Given the description of an element on the screen output the (x, y) to click on. 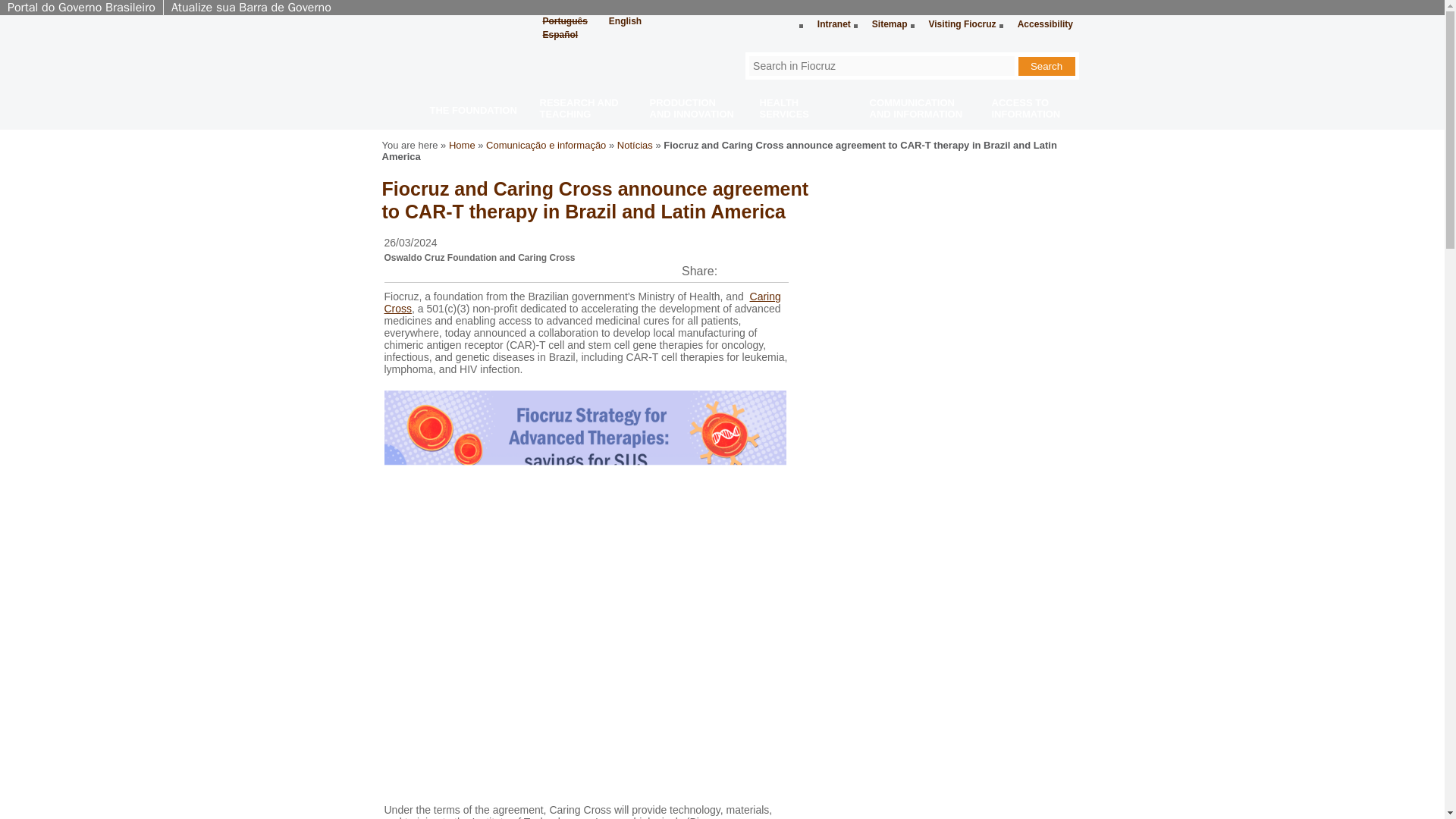
COMMUNICATION AND INFORMATION (907, 109)
RESEARCH AND TEACHING (579, 109)
Accessibility (1042, 23)
ACCESS TO INFORMATION (1029, 109)
Intranet (830, 23)
Portal do Governo Brasileiro (81, 7)
Access to information (1029, 109)
Research and teaching (579, 109)
Fiocruz (437, 55)
Production and innovation (688, 109)
